Given the description of an element on the screen output the (x, y) to click on. 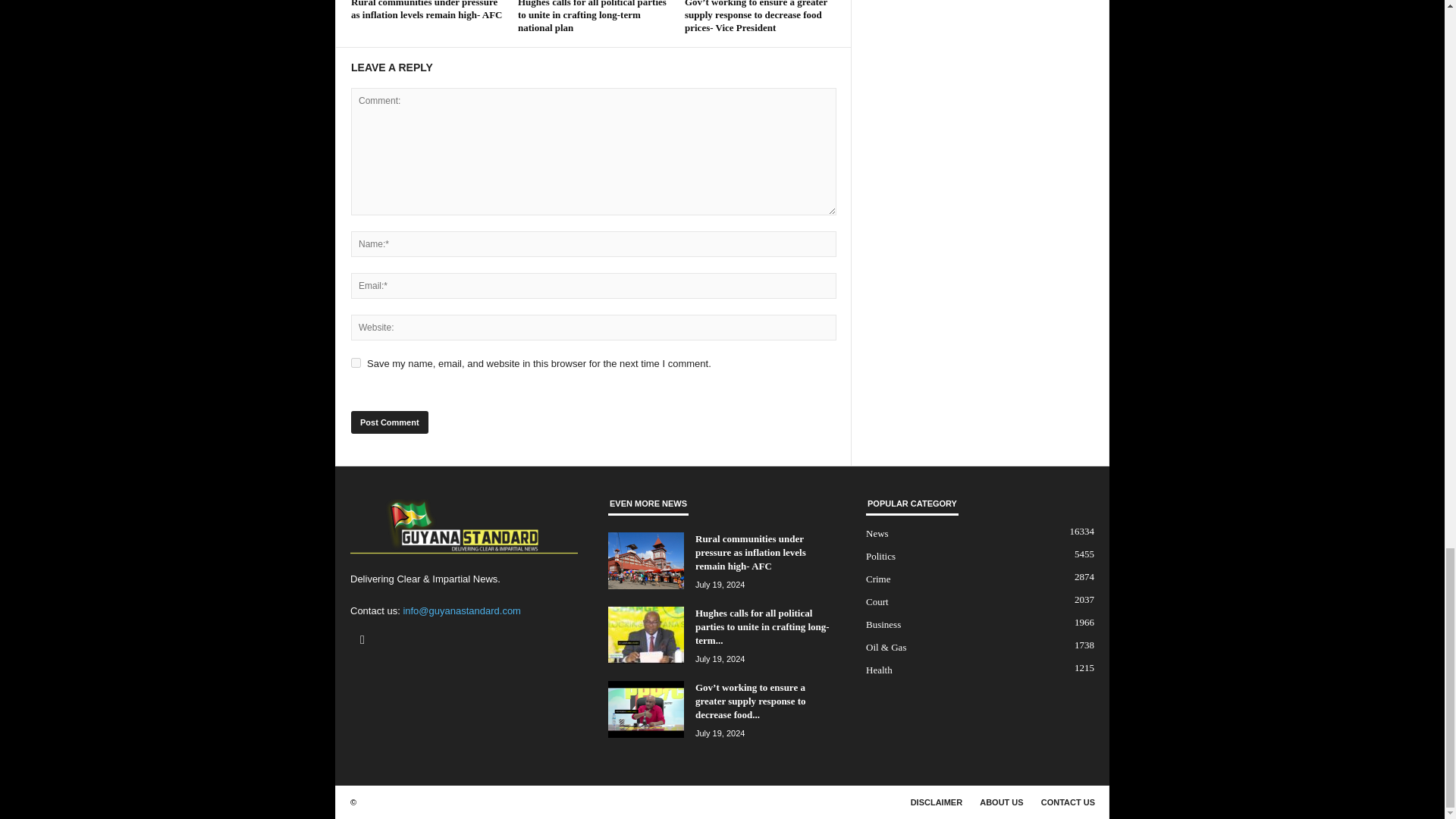
yes (355, 362)
Post Comment (389, 422)
